Given the description of an element on the screen output the (x, y) to click on. 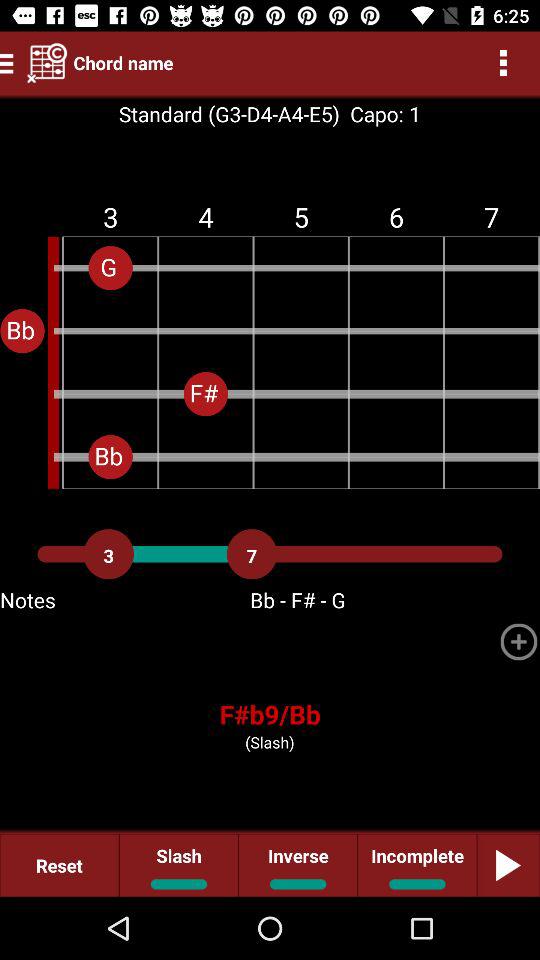
choose icon to the left of the   capo: 1 icon (228, 113)
